Given the description of an element on the screen output the (x, y) to click on. 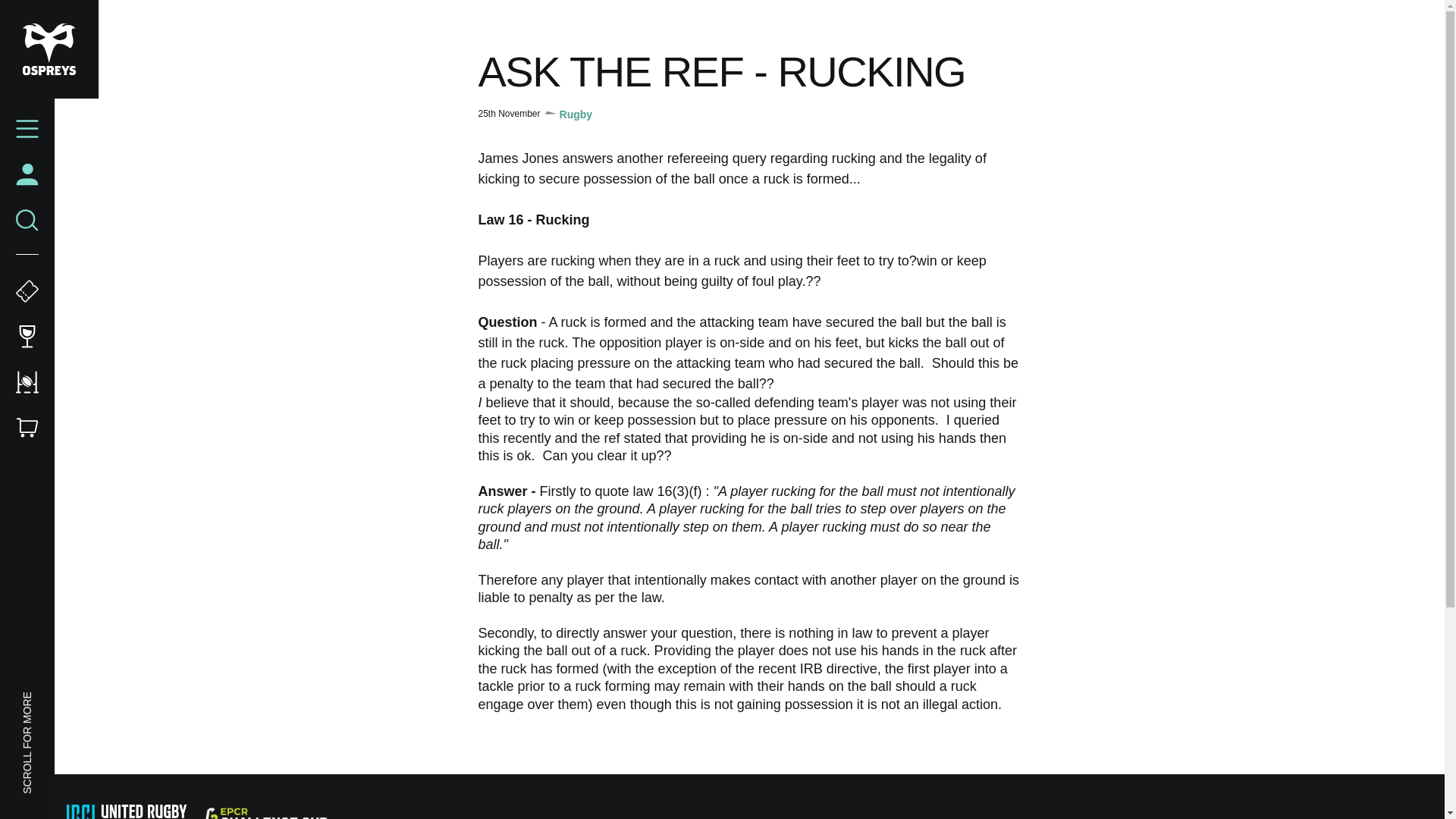
Search (27, 219)
SCROLL FOR MORE (71, 699)
Menu Closed (27, 128)
European Challenge Cup (266, 812)
Menu Closed (27, 128)
Search (27, 219)
United Rugby Championship (129, 811)
